Given the description of an element on the screen output the (x, y) to click on. 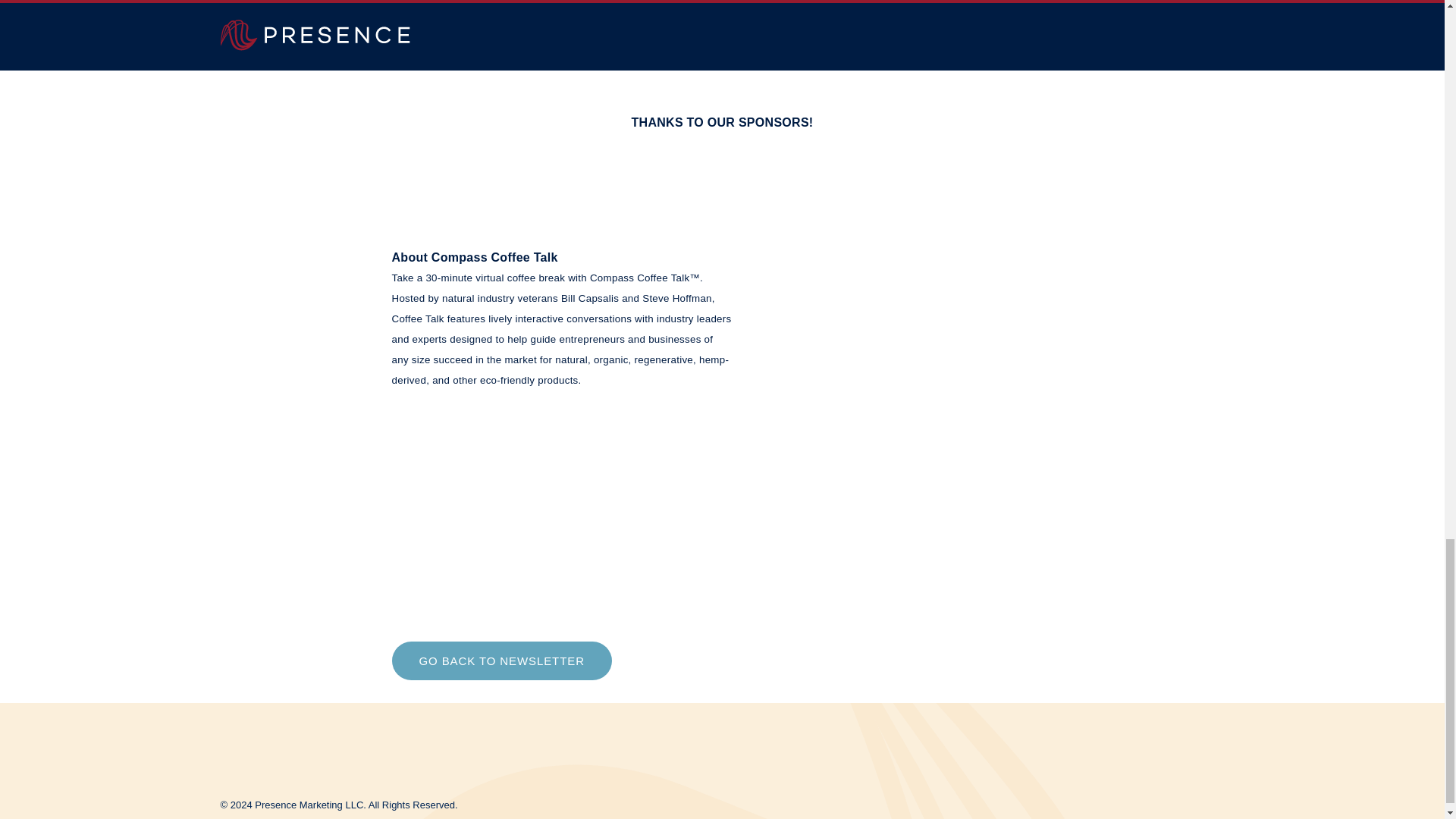
GO BACK TO NEWSLETTER (501, 660)
